Given the description of an element on the screen output the (x, y) to click on. 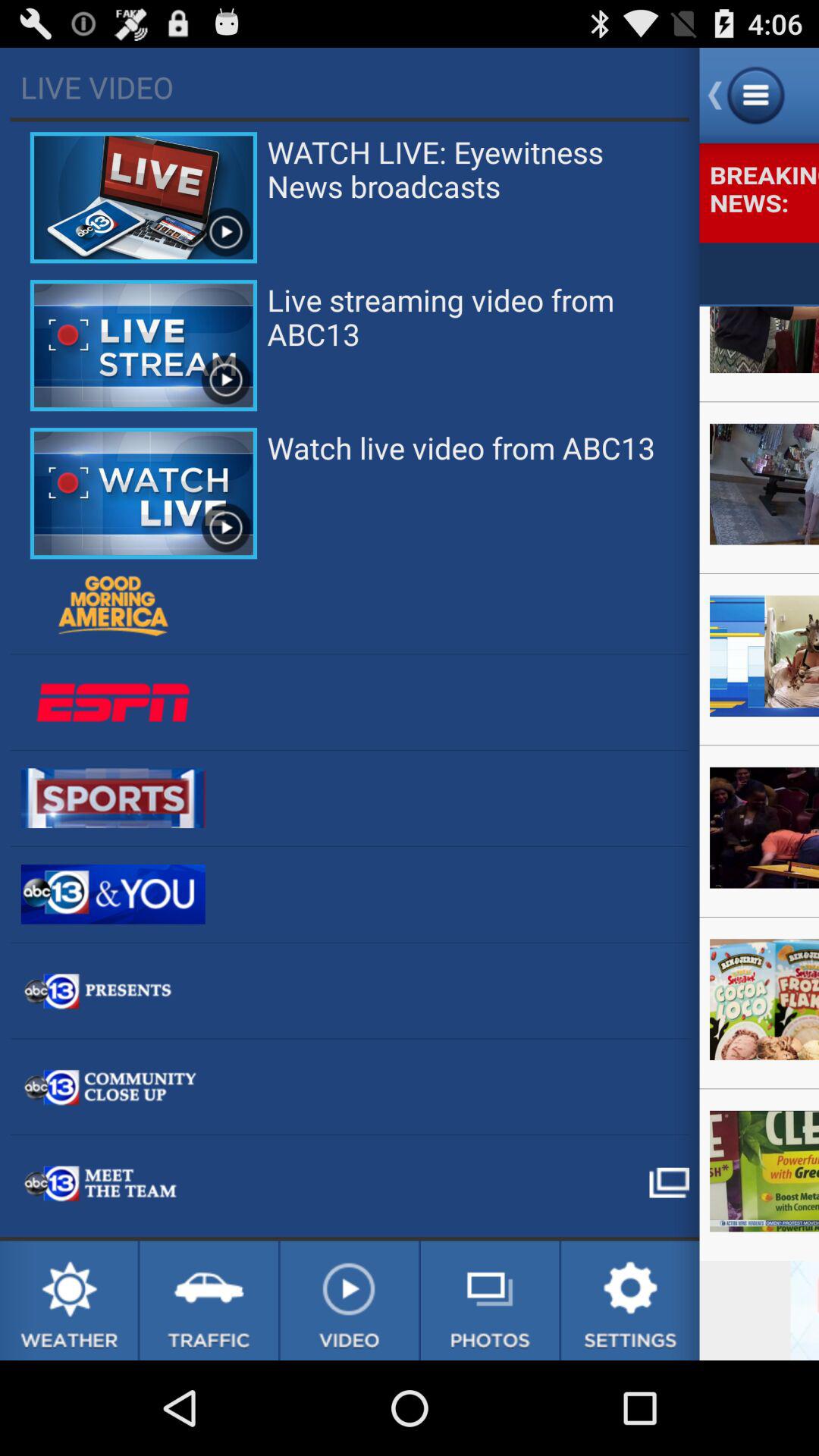
open app settings (630, 1300)
